Given the description of an element on the screen output the (x, y) to click on. 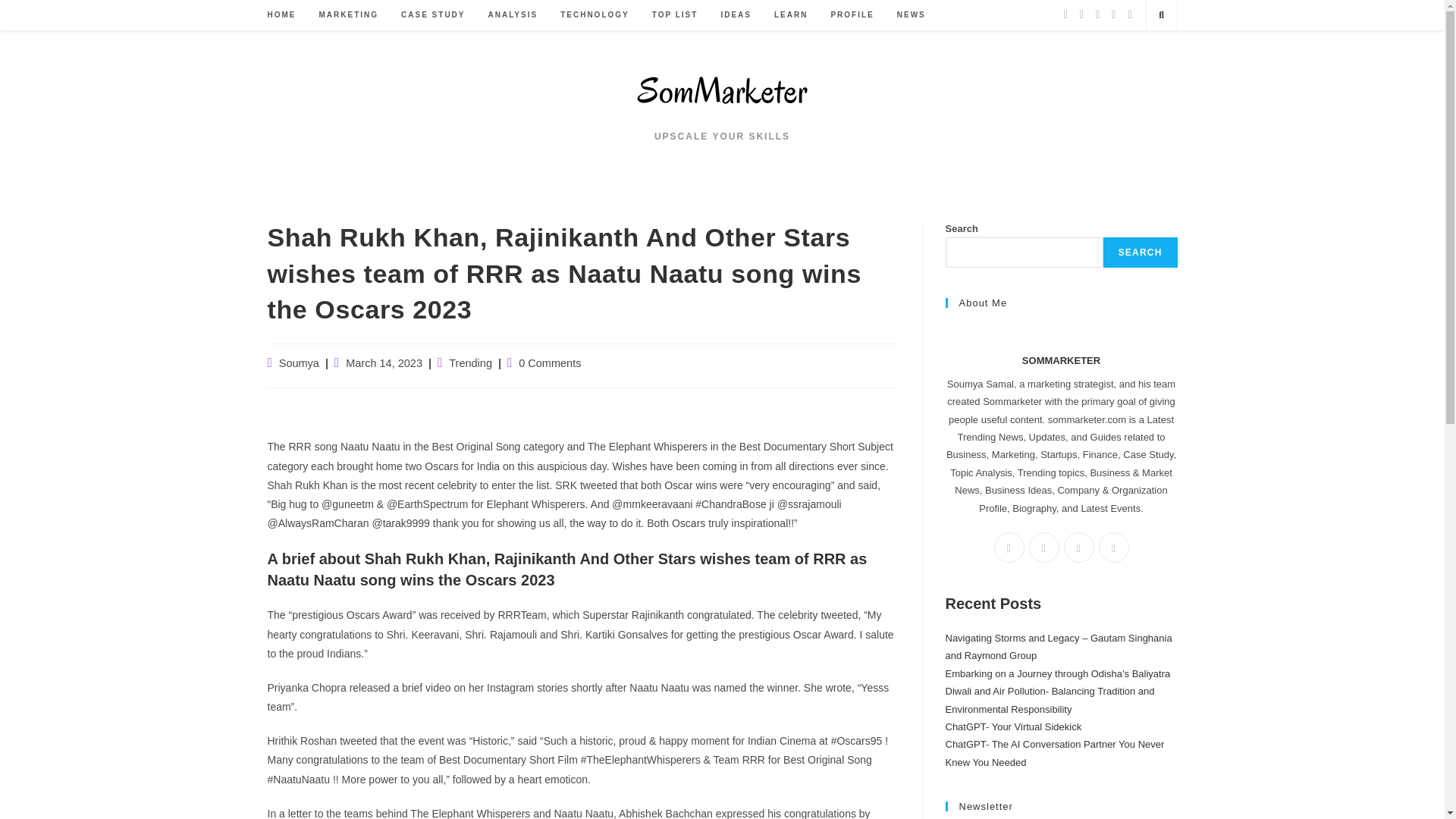
LEARN (790, 15)
NEWS (911, 15)
TOP LIST (675, 15)
IDEAS (735, 15)
PROFILE (851, 15)
CASE STUDY (433, 15)
MARKETING (348, 15)
ANALYSIS (513, 15)
HOME (281, 15)
TECHNOLOGY (594, 15)
Posts by Soumya (298, 363)
